Given the description of an element on the screen output the (x, y) to click on. 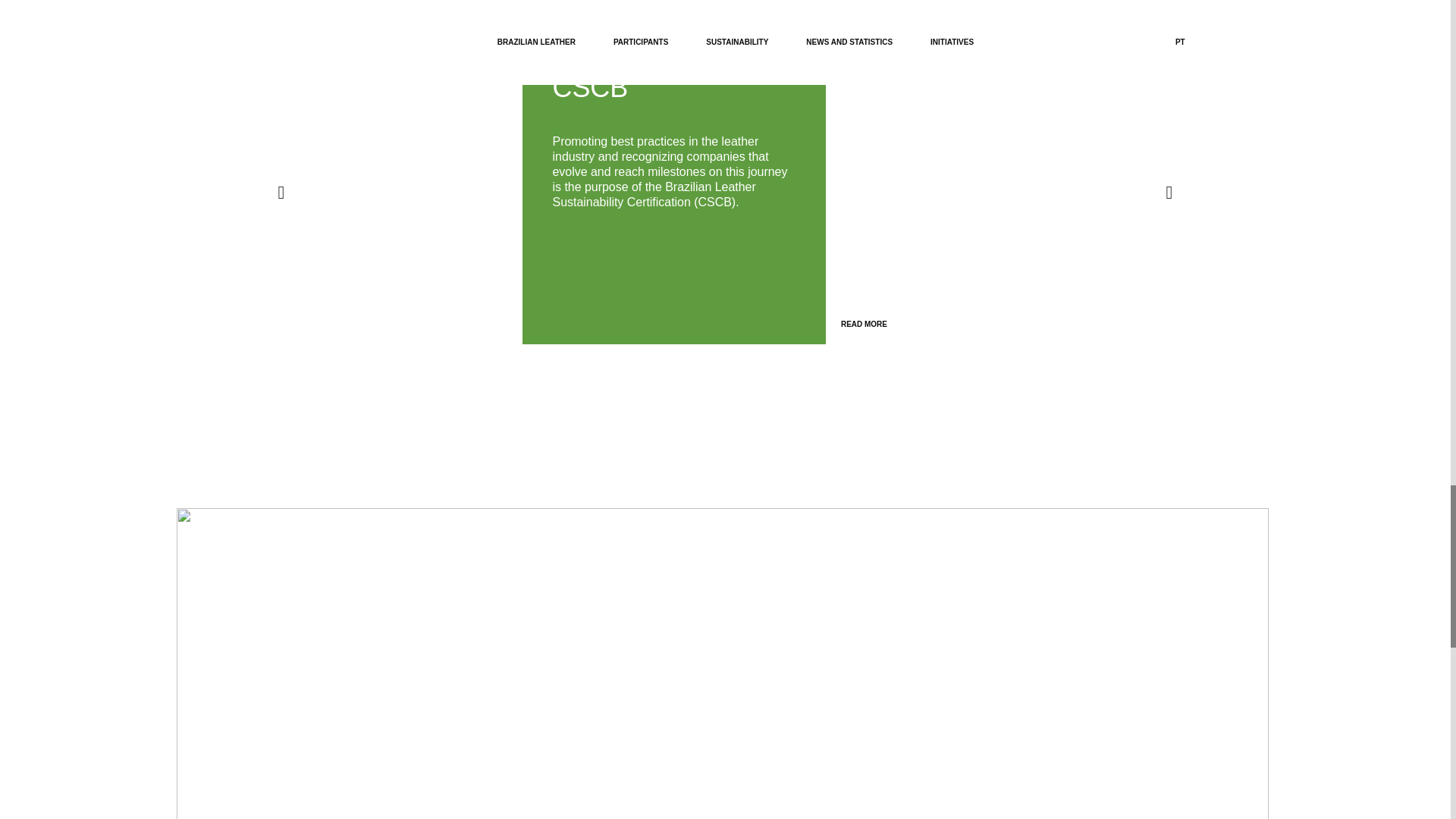
READ MORE (865, 303)
